Given the description of an element on the screen output the (x, y) to click on. 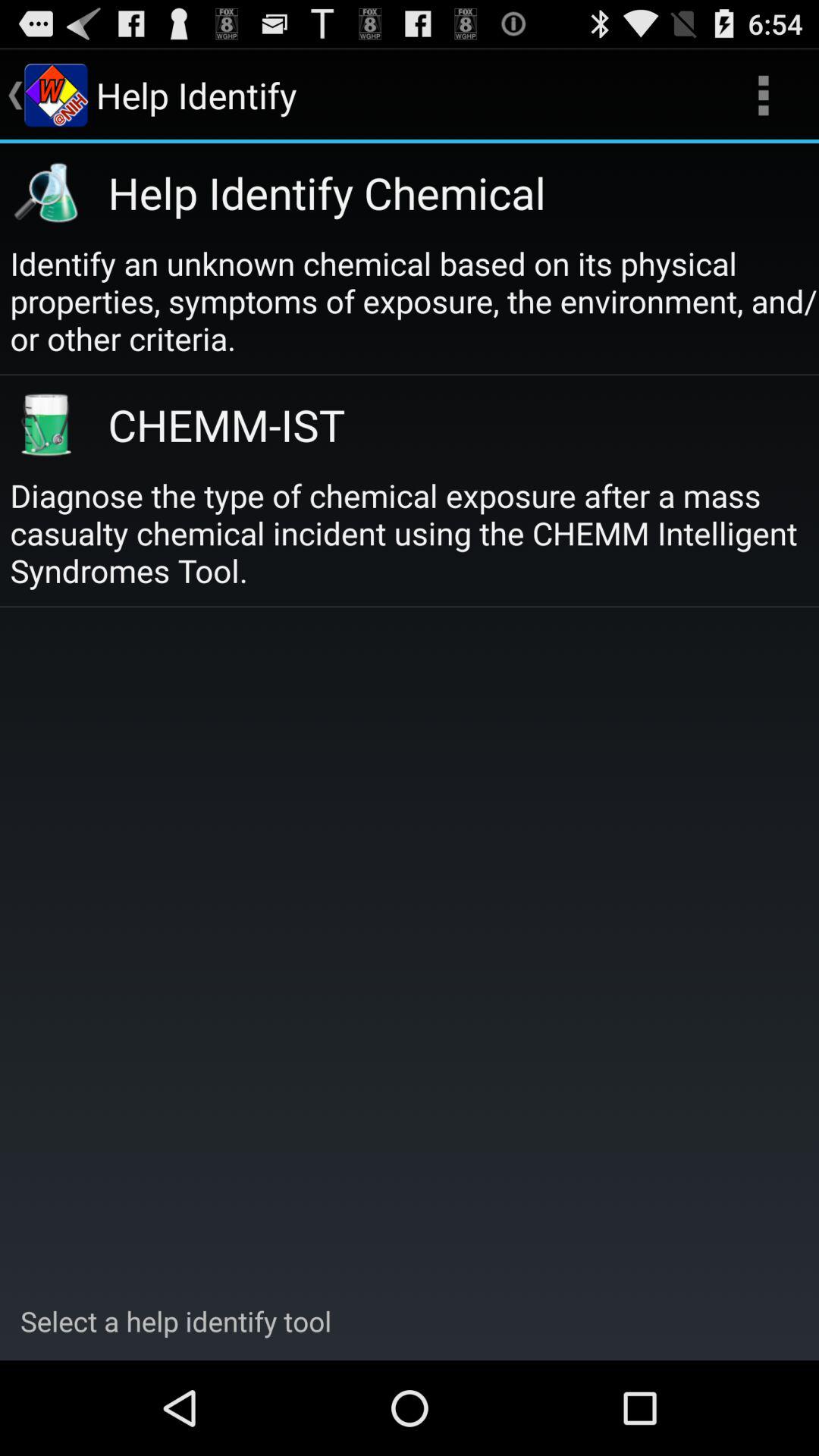
launch diagnose the type at the center (414, 532)
